Given the description of an element on the screen output the (x, y) to click on. 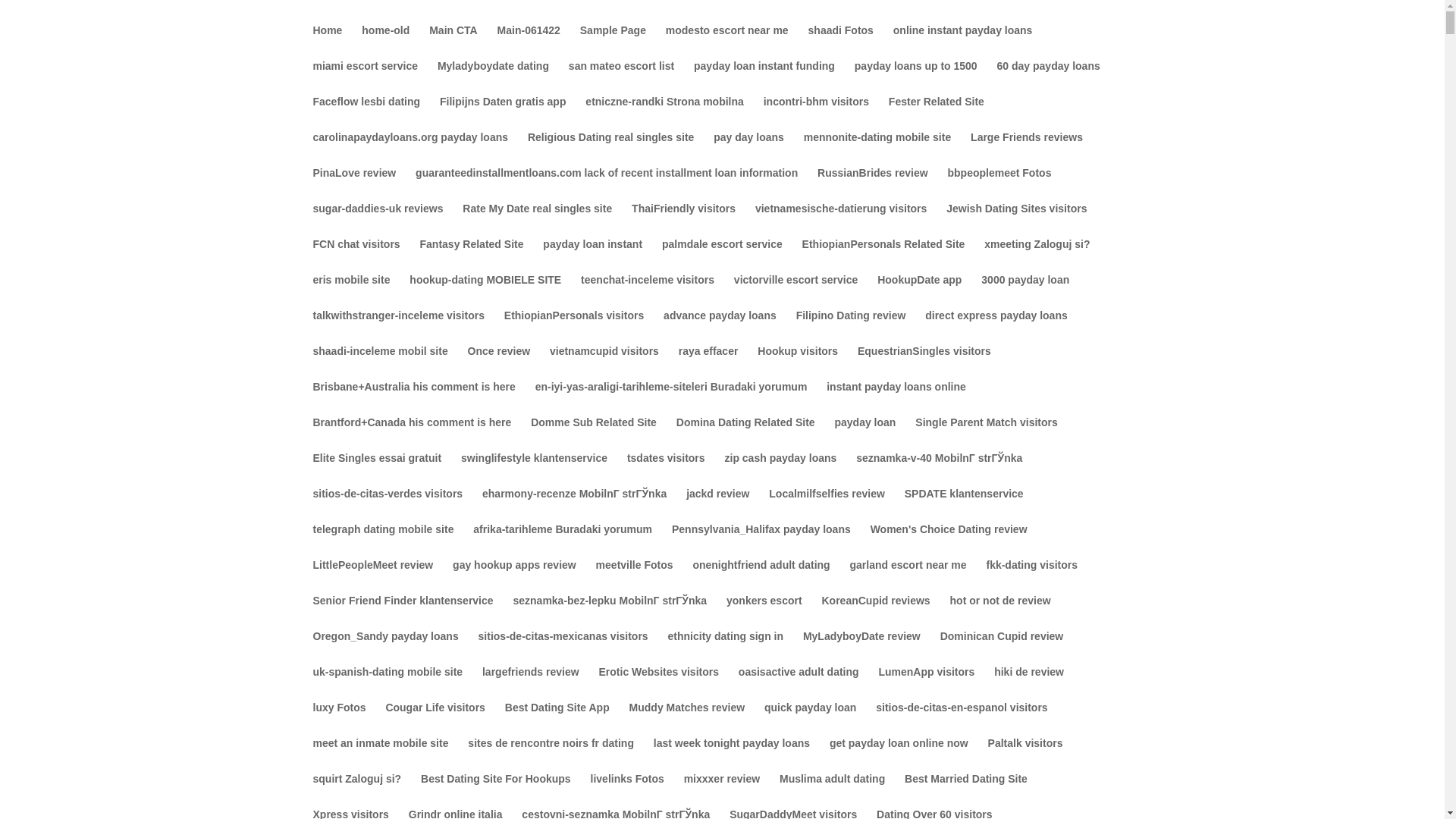
san mateo escort list (621, 78)
Fester Related Site (936, 113)
Main-061422 (528, 42)
carolinapaydayloans.org payday loans (410, 149)
vietnamesische-datierung visitors (840, 221)
Jewish Dating Sites visitors (1016, 221)
Fantasy Related Site (472, 256)
Myladyboydate dating (493, 78)
payday loan instant funding (764, 78)
